Given the description of an element on the screen output the (x, y) to click on. 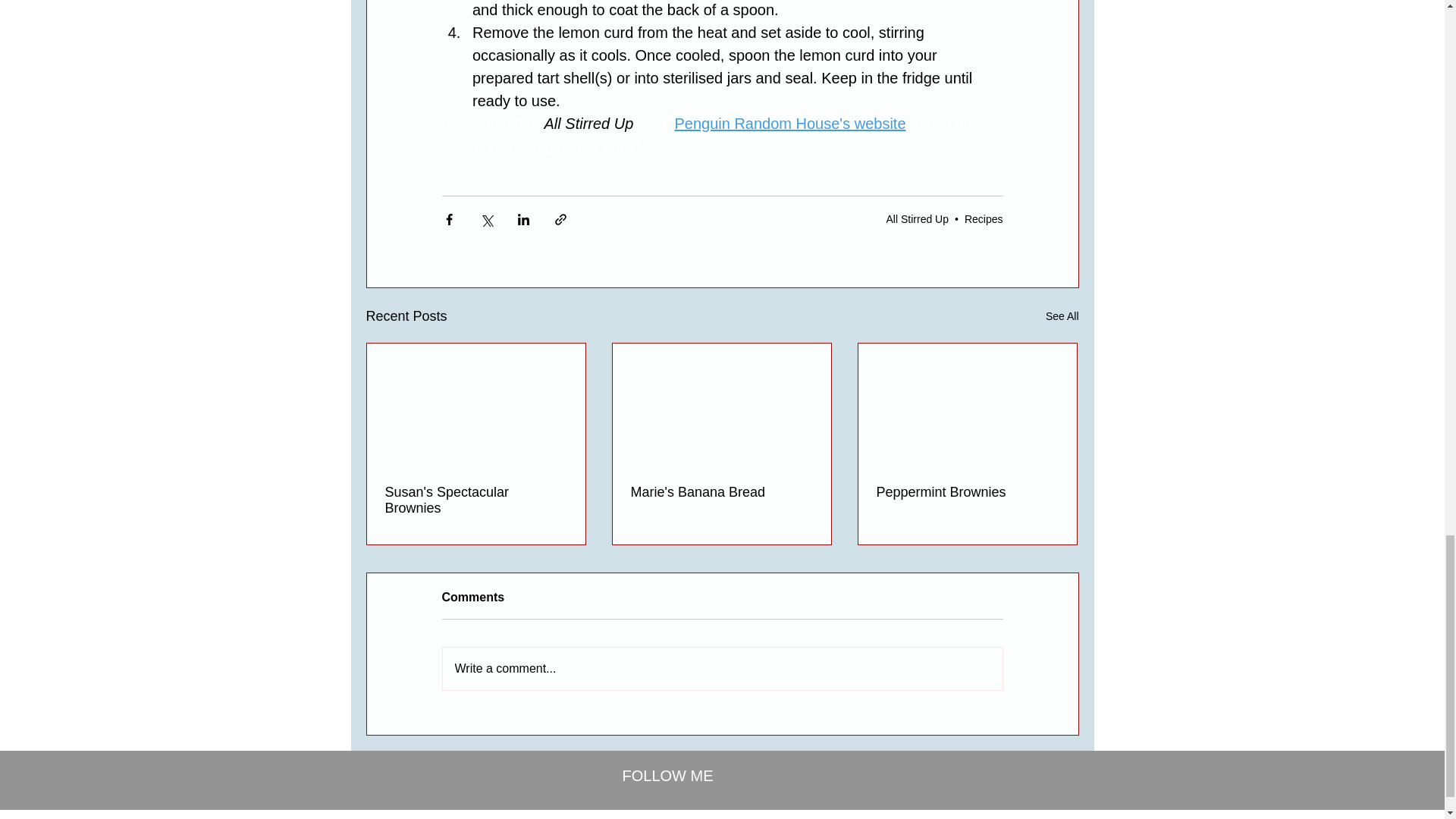
Peppermint Brownies (967, 492)
Write a comment... (722, 668)
See All (1061, 316)
Recipes (983, 218)
All Stirred Up (917, 218)
Marie's Banana Bread (721, 492)
Wix.com (817, 816)
Susan's Spectacular Brownies (476, 500)
Penguin Random House's website (789, 123)
